Given the description of an element on the screen output the (x, y) to click on. 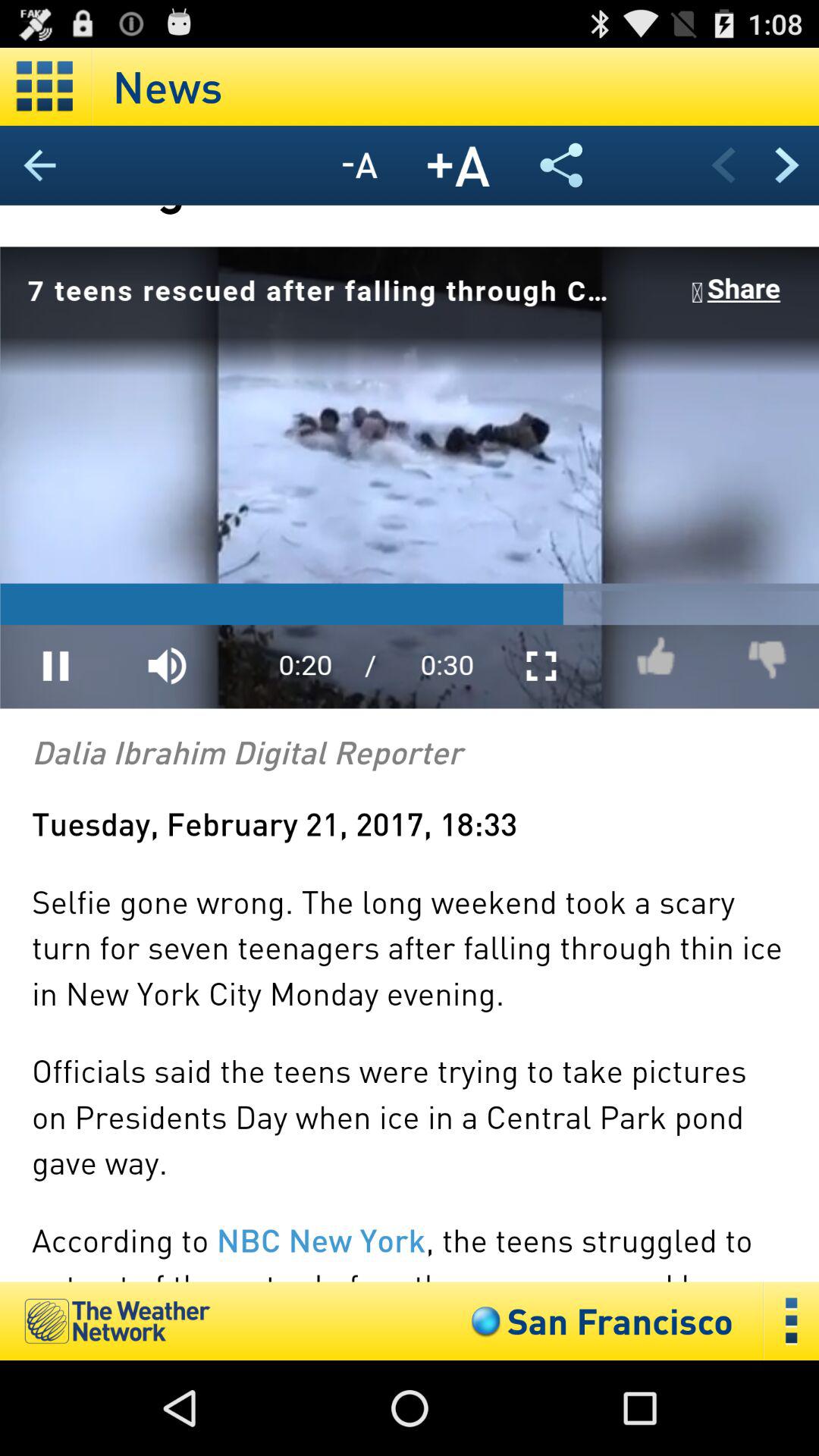
share the article (561, 165)
